Given the description of an element on the screen output the (x, y) to click on. 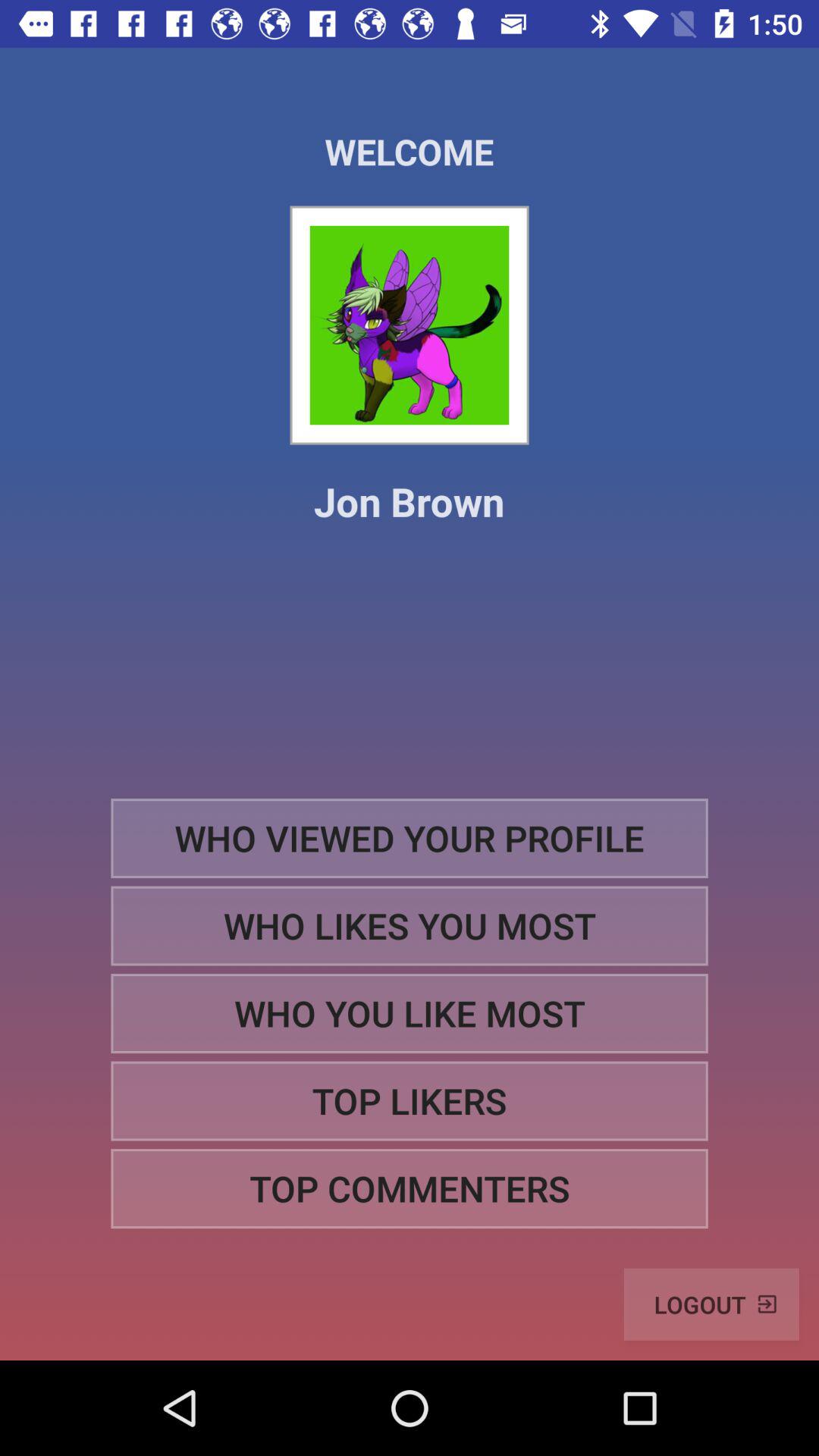
tap the icon below the jon brown (409, 838)
